Given the description of an element on the screen output the (x, y) to click on. 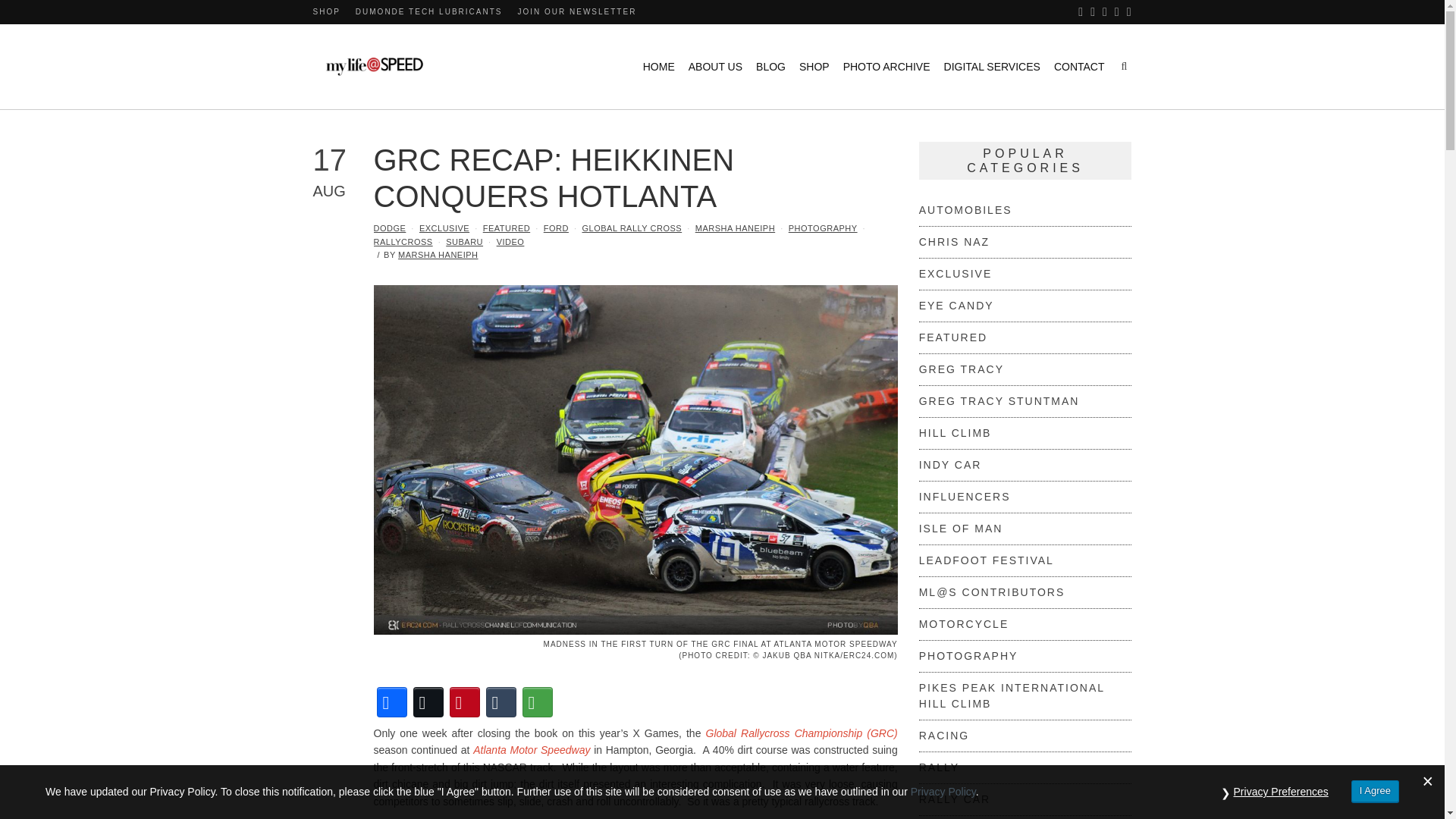
VIDEO (510, 241)
MARSHA HANEIPH (734, 227)
SHOP (326, 11)
ABOUT US (715, 66)
EXCLUSIVE (443, 227)
CONTACT (1079, 66)
DIGITAL SERVICES (992, 66)
SUBARU (464, 241)
DODGE (389, 227)
DUMONDE TECH LUBRICANTS (428, 11)
Tumblr (499, 701)
More Options (536, 701)
Facebook (390, 701)
August 17, 2013 (342, 170)
Atlanta Motor Speedway (531, 749)
